Given the description of an element on the screen output the (x, y) to click on. 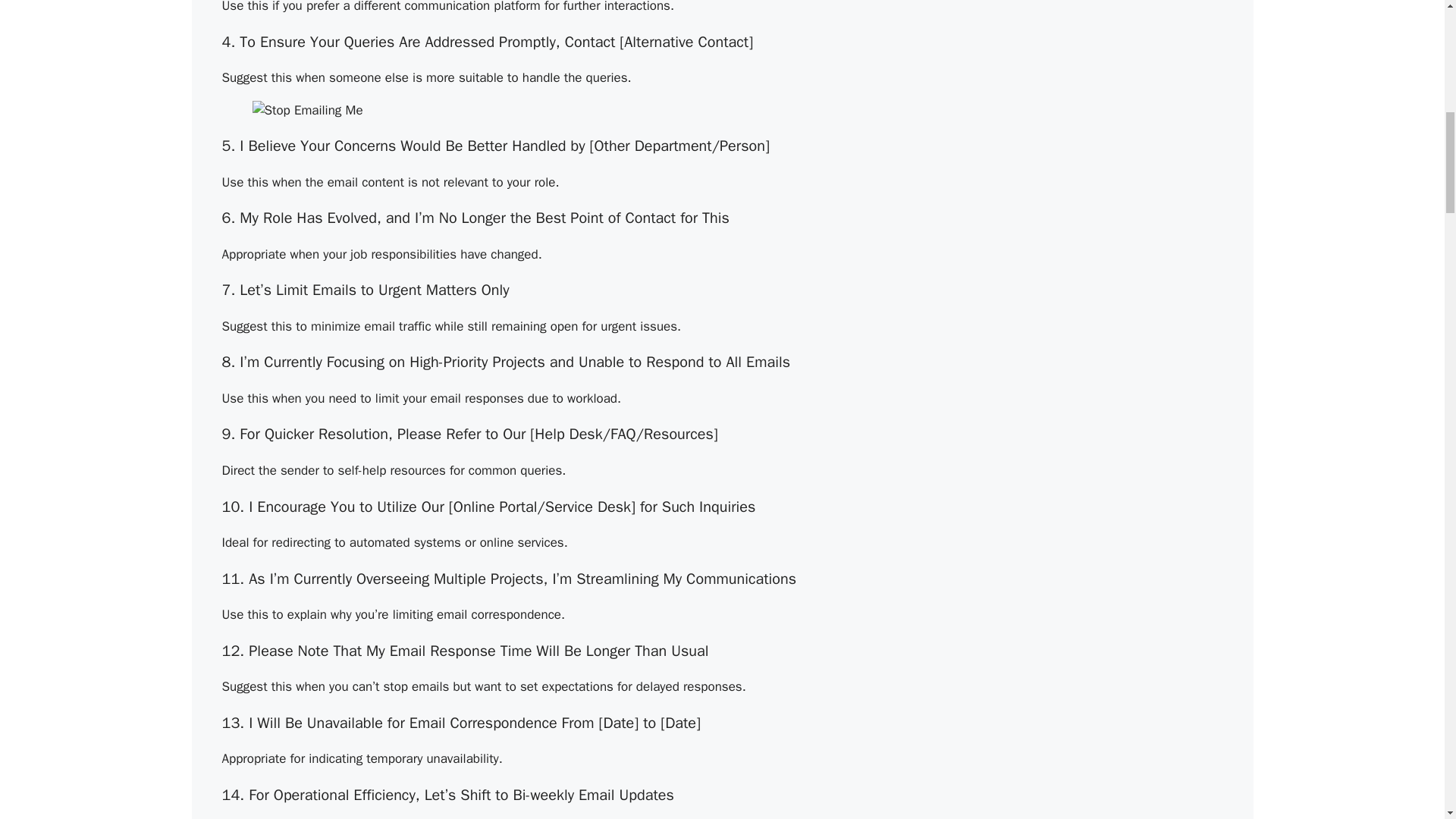
How to Professionally Say Stop Emailing Me 2 (306, 109)
